Given the description of an element on the screen output the (x, y) to click on. 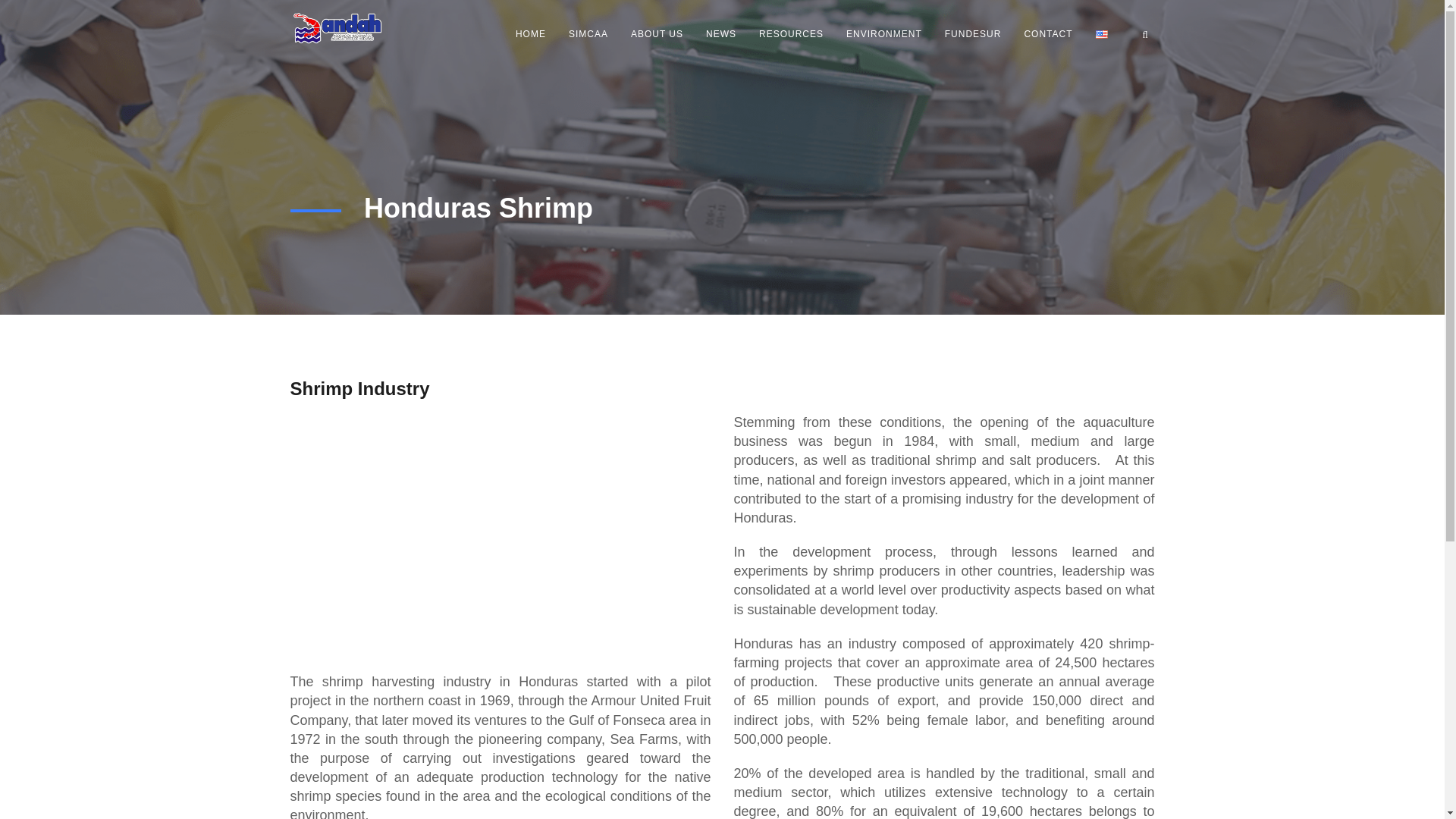
RESOURCES (791, 33)
NEWS (721, 33)
FUNDESUR (973, 33)
CONTACT (1047, 33)
HOME (530, 33)
ENVIRONMENT (883, 33)
ABOUT US (657, 33)
SIMCAA (588, 33)
